Given the description of an element on the screen output the (x, y) to click on. 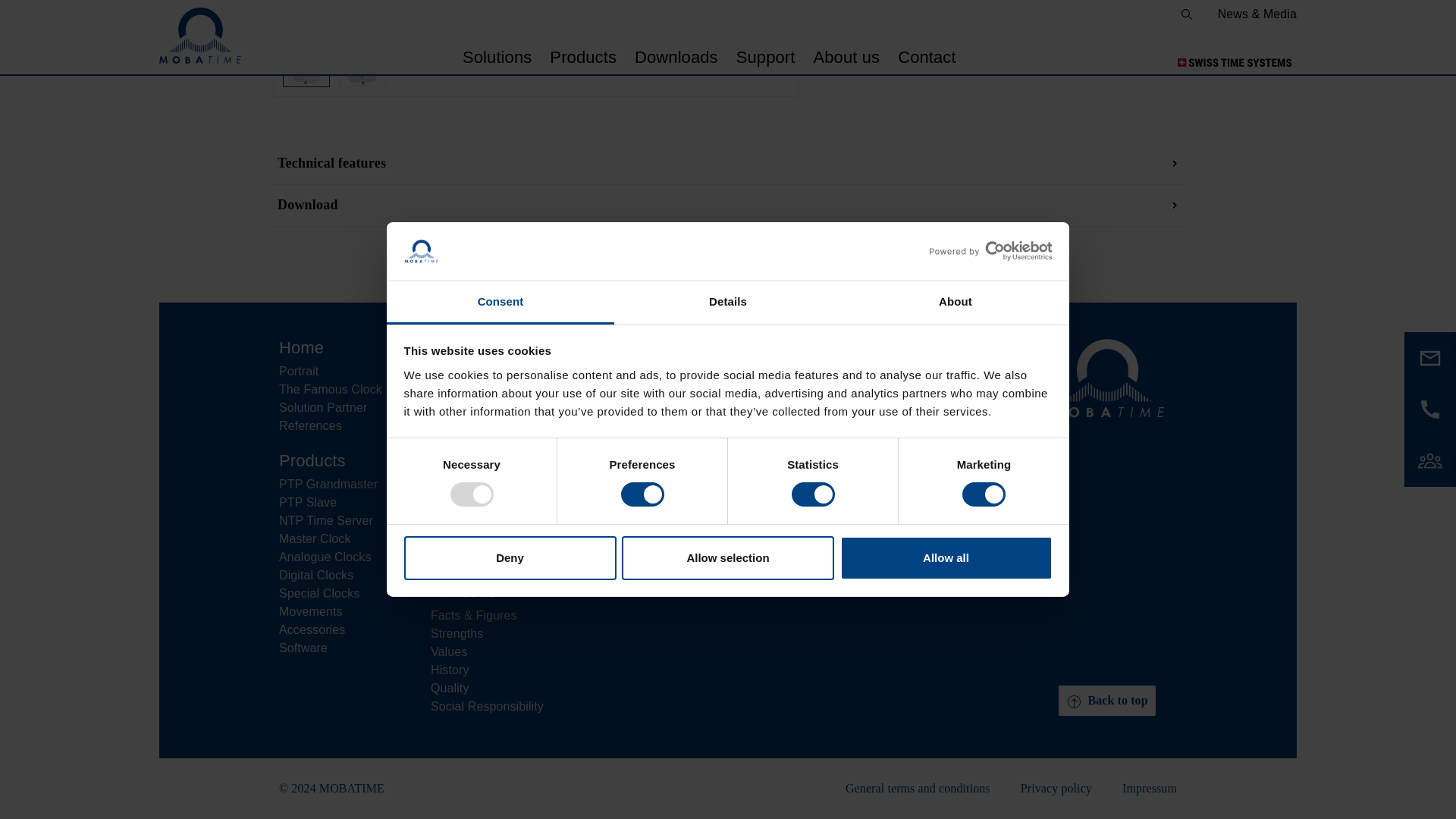
Deny (509, 147)
Allow selection (727, 147)
Allow all (946, 147)
